Given the description of an element on the screen output the (x, y) to click on. 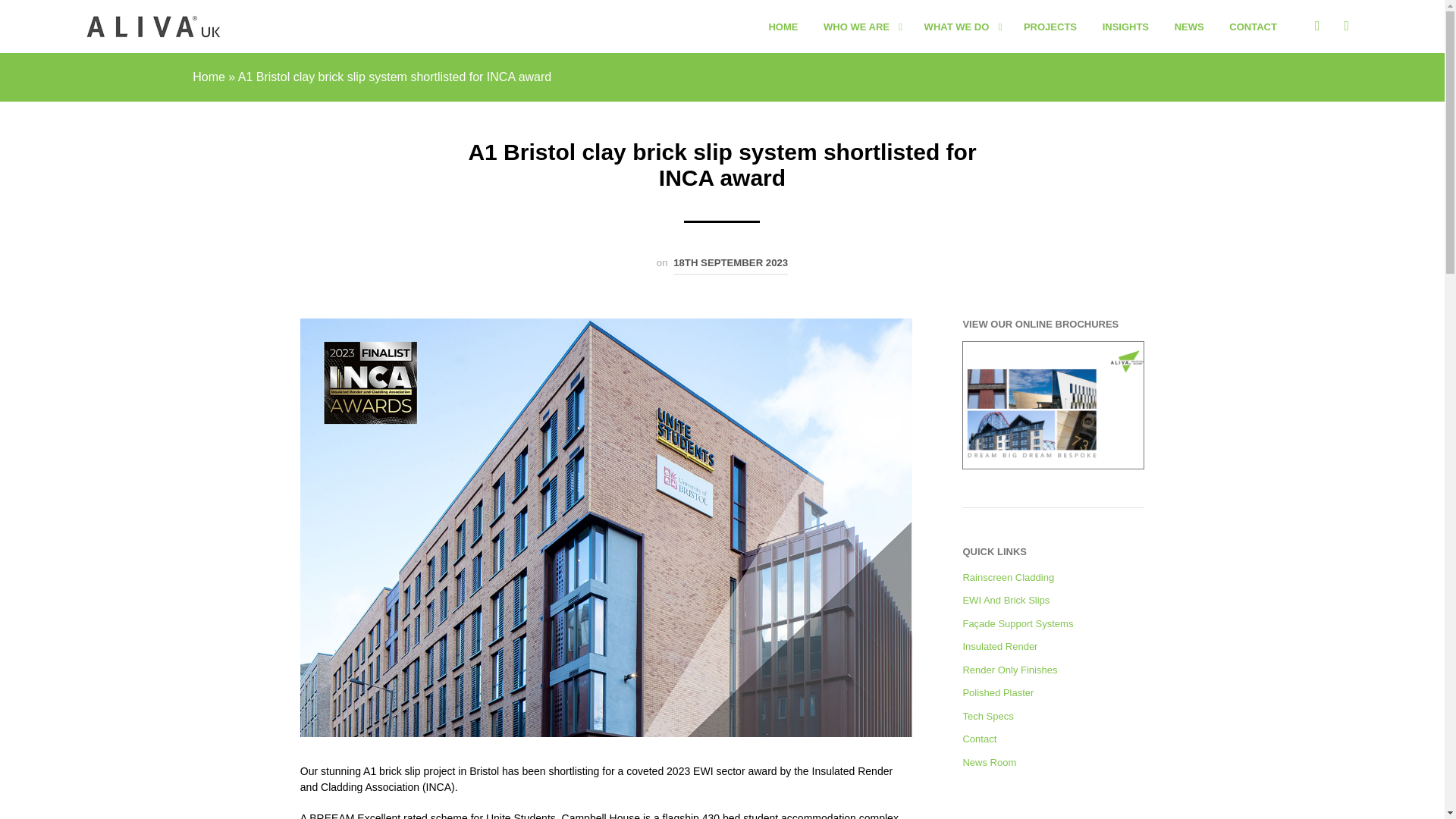
Architectural Solutions (151, 26)
